Given the description of an element on the screen output the (x, y) to click on. 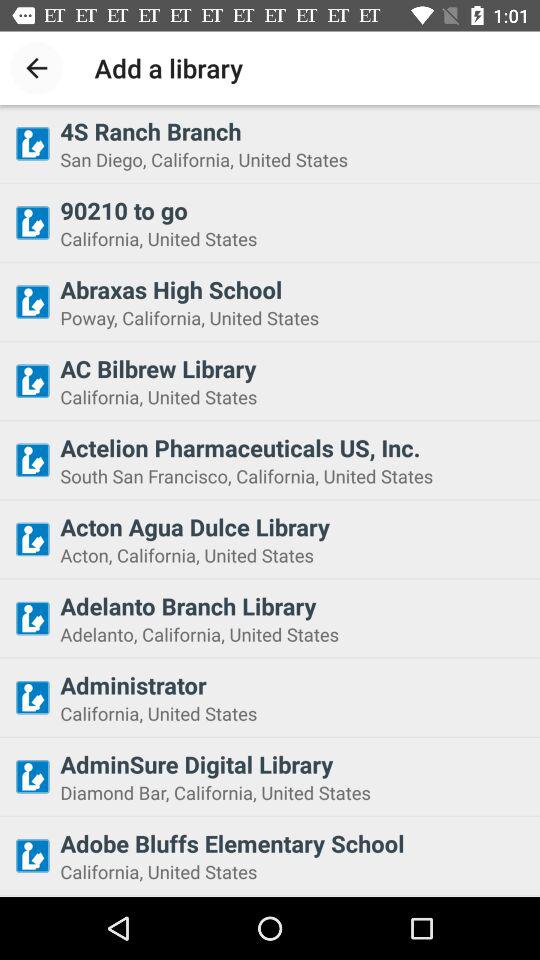
press the icon below acton california united icon (294, 606)
